Given the description of an element on the screen output the (x, y) to click on. 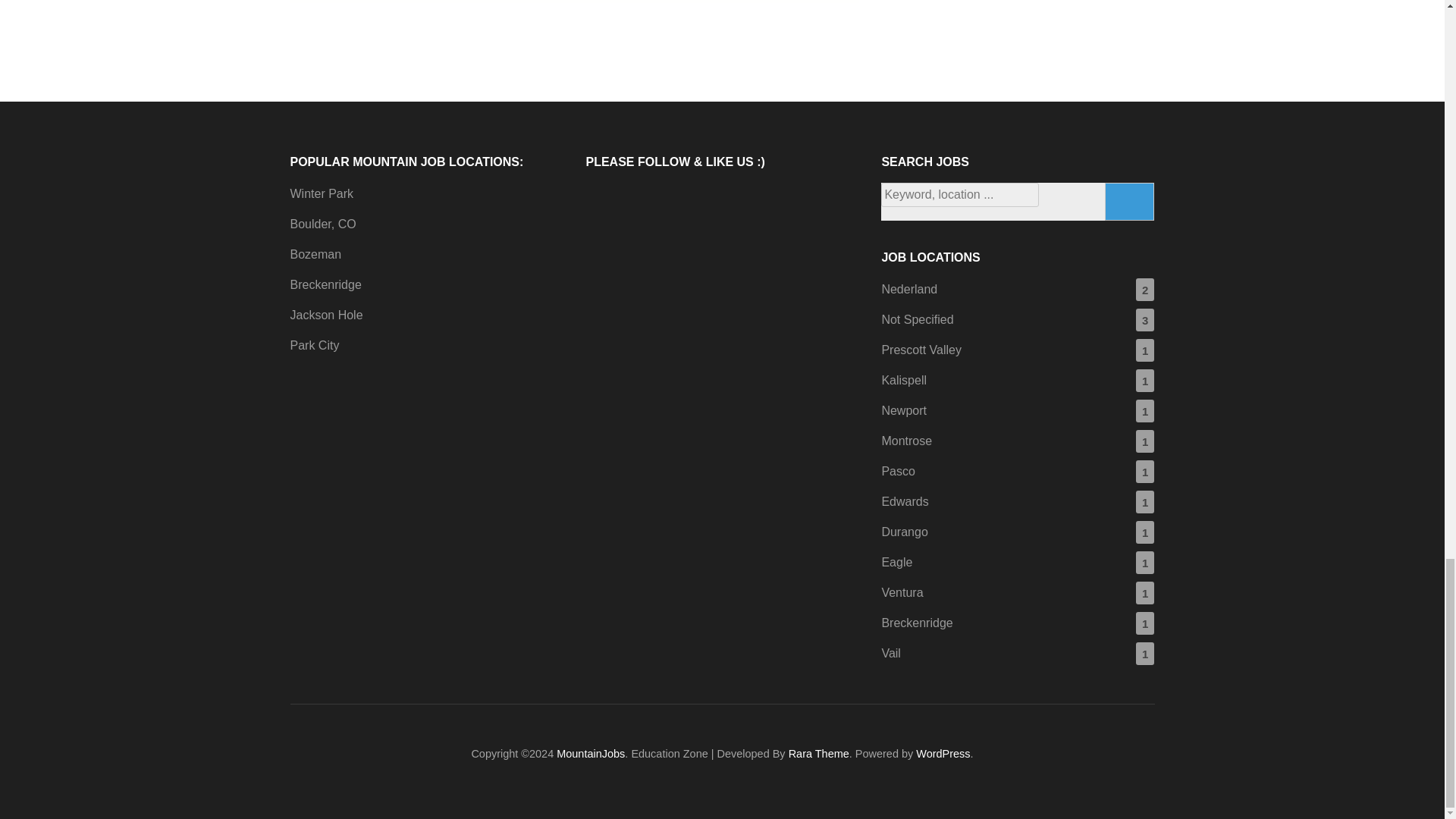
Search (1129, 201)
Facebook (603, 200)
